Given the description of an element on the screen output the (x, y) to click on. 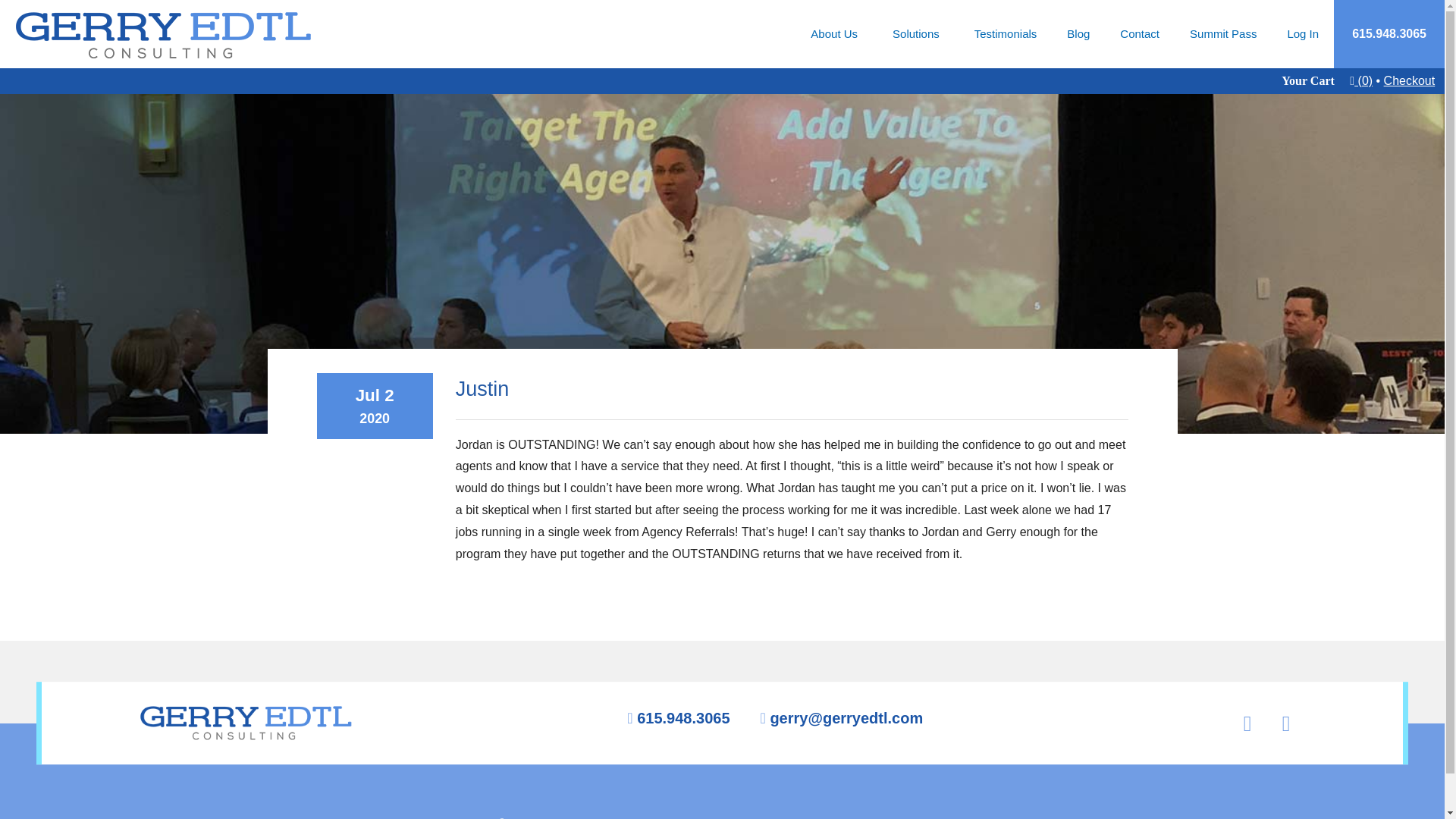
Checkout (1409, 80)
Log In (1302, 33)
Solutions (918, 33)
Blog (1078, 33)
View your shopping cart (1361, 80)
Summit Pass (1222, 33)
615.948.3065 (683, 718)
Contact (1139, 33)
Testimonials (1005, 33)
About Us (835, 33)
